Given the description of an element on the screen output the (x, y) to click on. 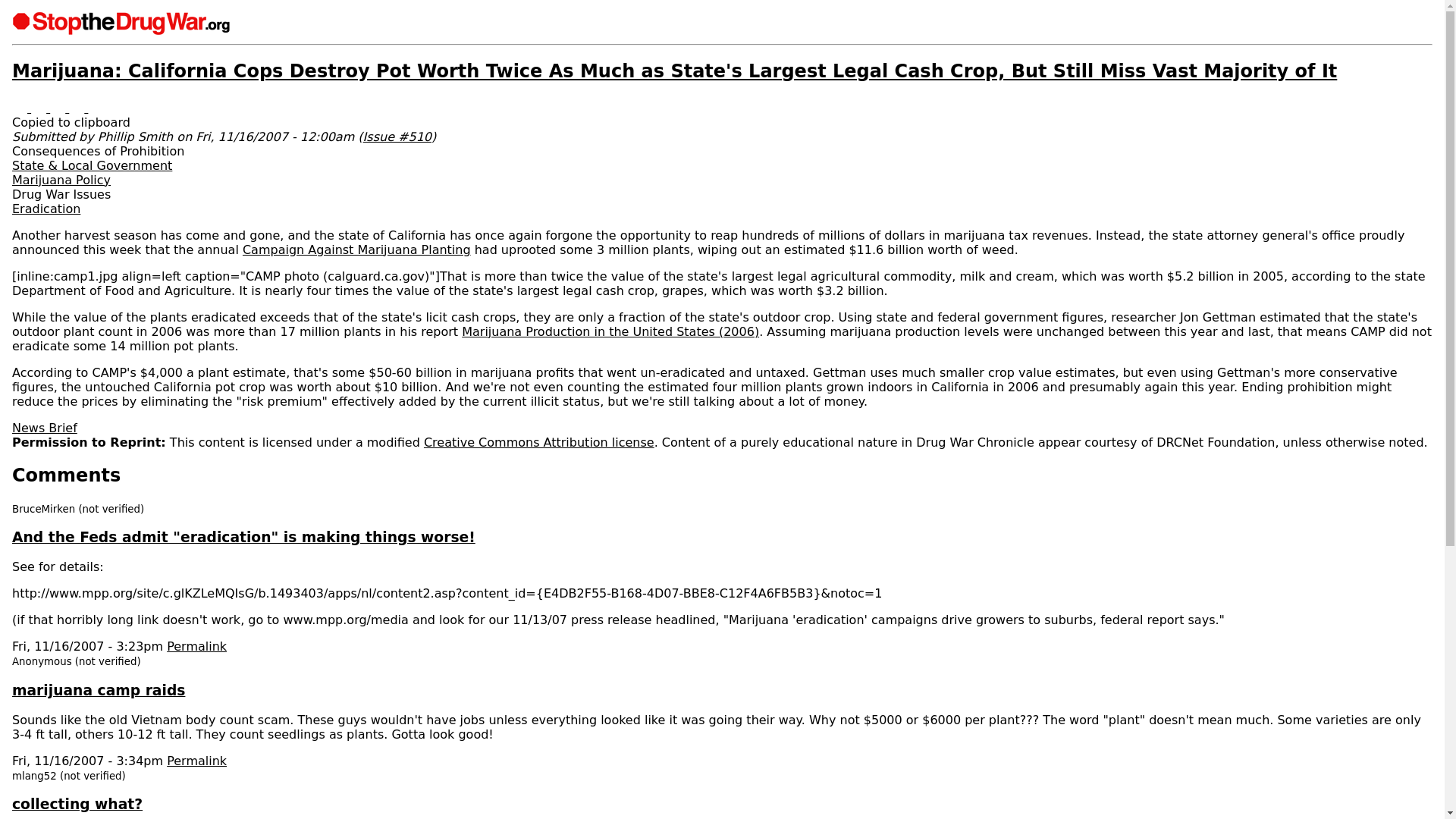
Permalink (197, 760)
Campaign Against Marijuana Planting (356, 249)
Permalink (197, 646)
And the Feds admit "eradication" is making things worse! (243, 537)
marijuana camp raids (97, 690)
Share to Linkedin (39, 107)
News Brief (44, 427)
Marijuana Policy (60, 179)
Eradication (45, 208)
Creative Commons Attribution license (538, 441)
Friday, November 16, 2007 - 12:00am (274, 136)
Share to Facebook (20, 107)
Share to Email (77, 107)
Share to Reddit (58, 107)
